Given the description of an element on the screen output the (x, y) to click on. 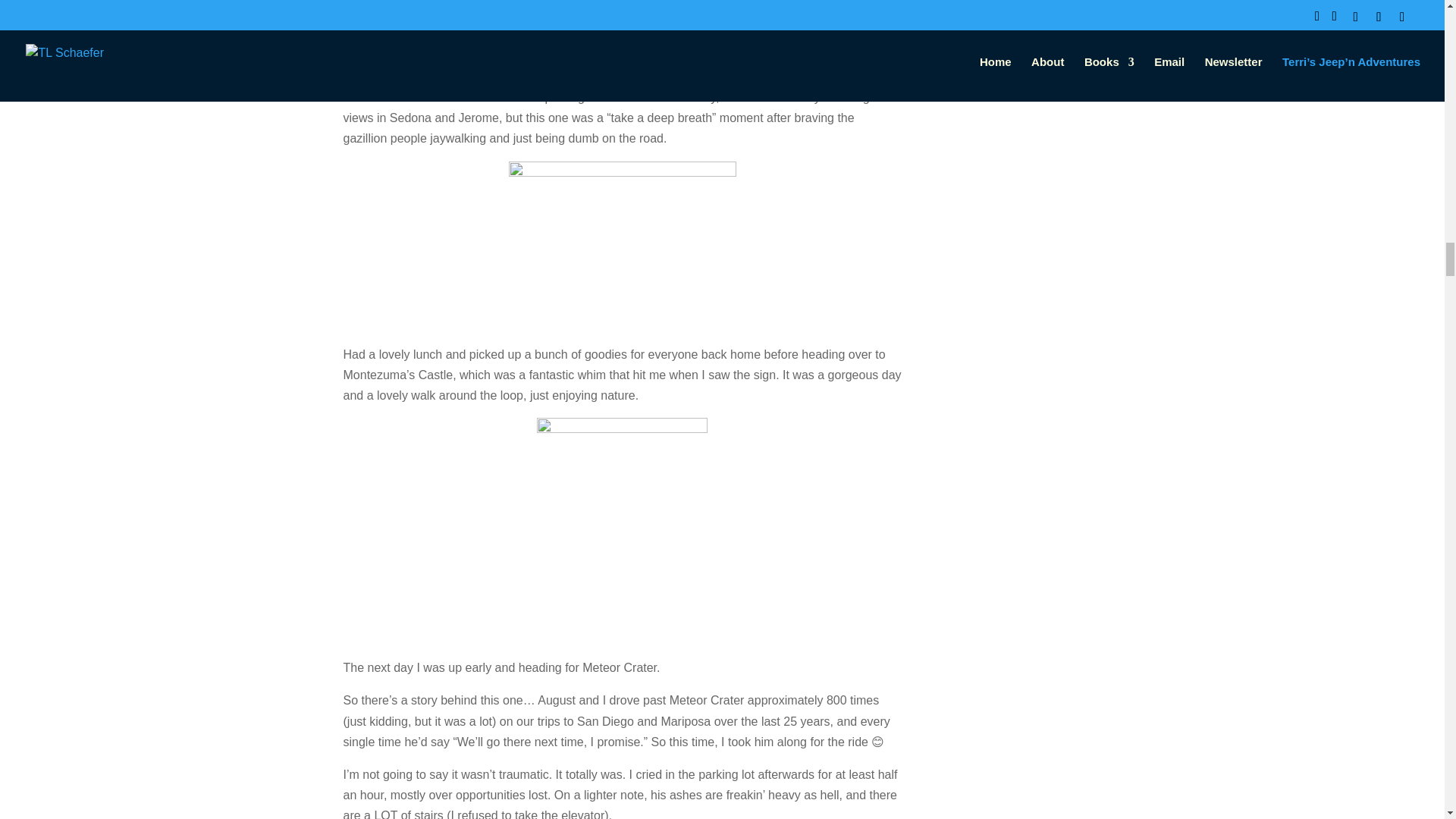
Caduceus Winery (505, 4)
